Given the description of an element on the screen output the (x, y) to click on. 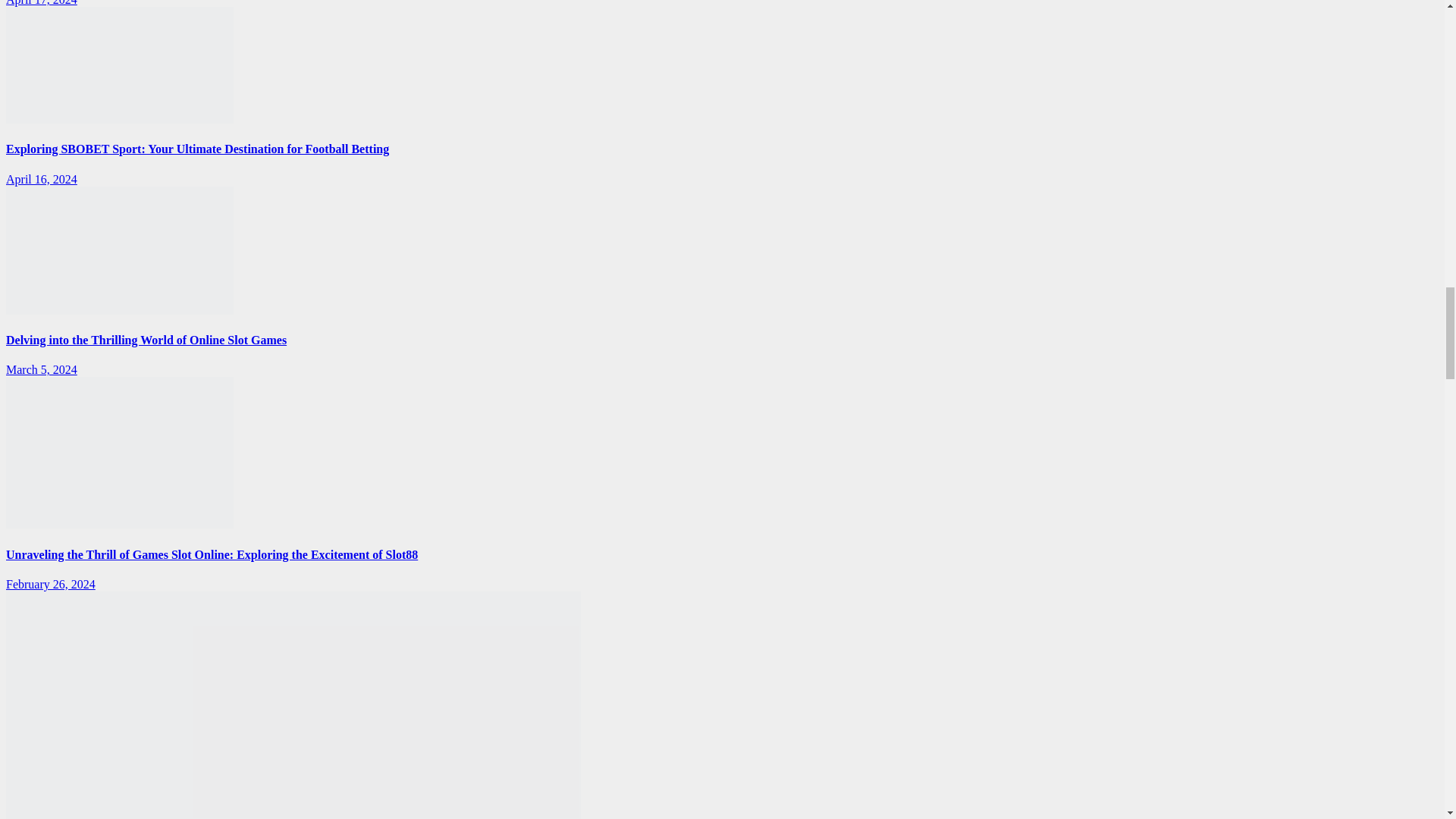
SBOBET Sport (118, 64)
Delving into the Thrilling World of Online Slot Games (118, 250)
